Given the description of an element on the screen output the (x, y) to click on. 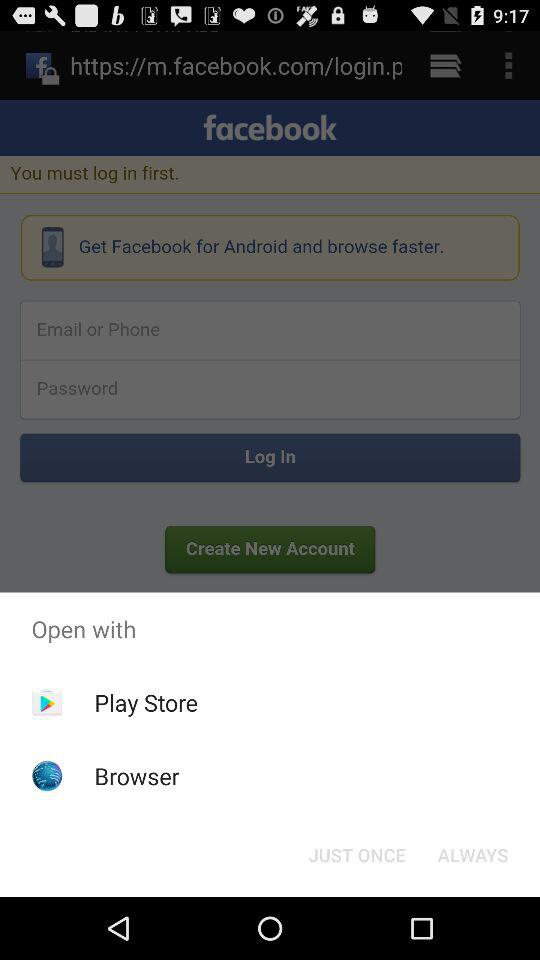
jump to always icon (472, 854)
